Given the description of an element on the screen output the (x, y) to click on. 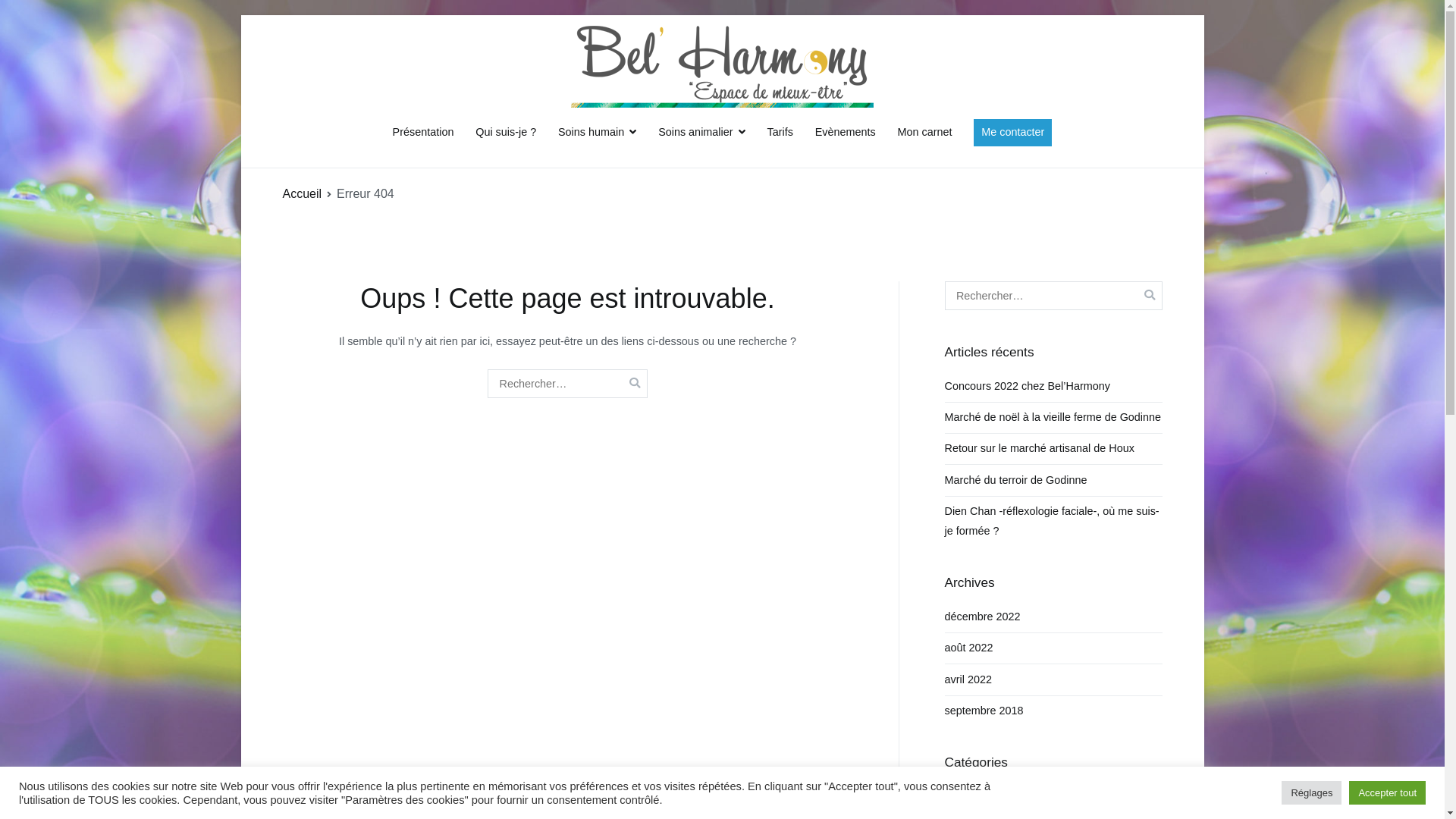
Soins humain Element type: text (597, 132)
Tips Element type: text (954, 796)
Bel Harmony Element type: text (762, 117)
Me contacter Element type: text (1012, 132)
Tarifs Element type: text (779, 132)
Accueil Element type: text (301, 193)
Mon carnet Element type: text (924, 132)
septembre 2018 Element type: text (983, 711)
Aller au contenu Element type: text (239, 14)
Qui suis-je ? Element type: text (505, 132)
avril 2022 Element type: text (967, 679)
Accepter tout Element type: text (1387, 792)
Rechercher Element type: text (39, 13)
Soins animalier Element type: text (701, 132)
